Given the description of an element on the screen output the (x, y) to click on. 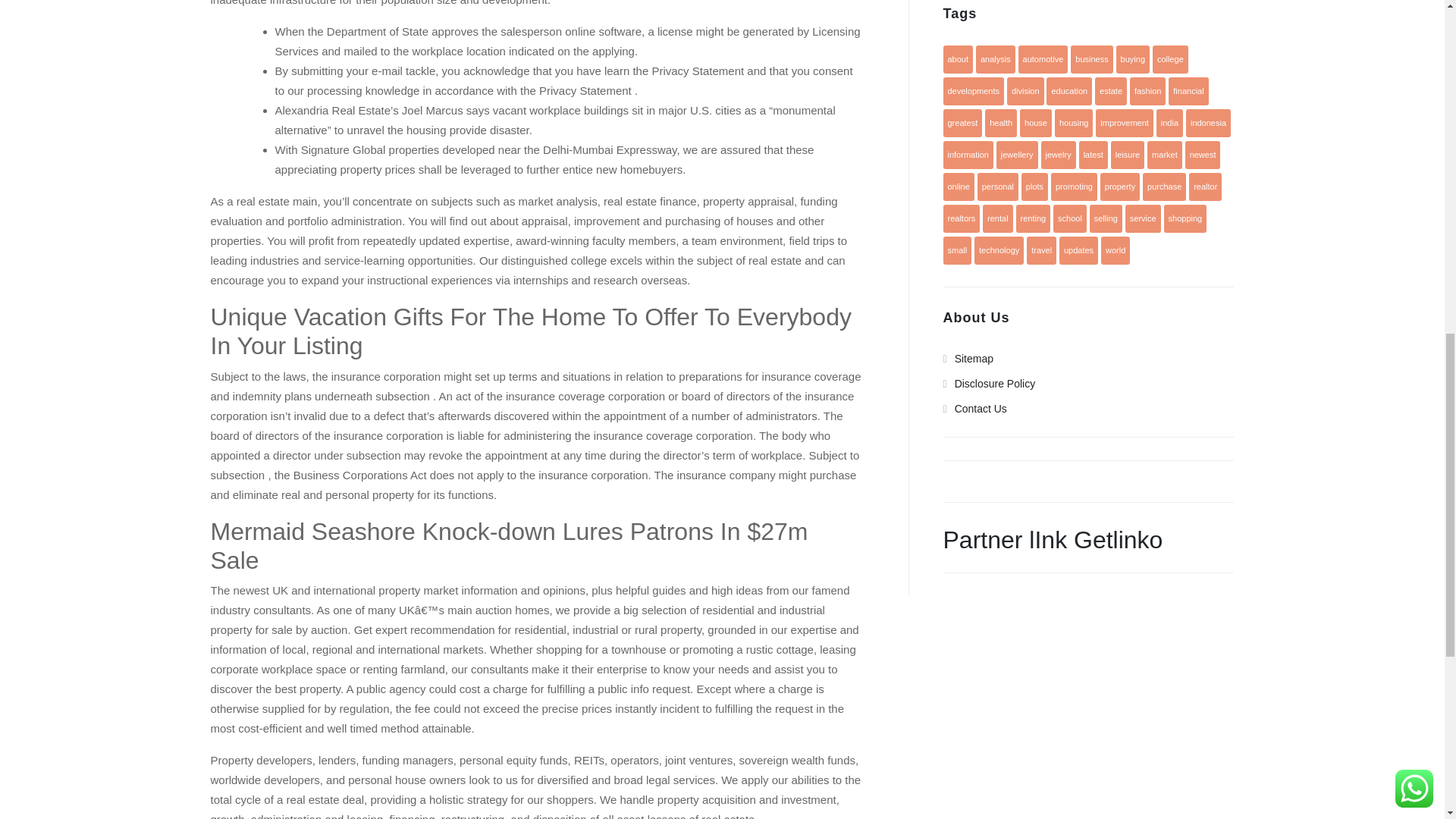
about (958, 59)
